Given the description of an element on the screen output the (x, y) to click on. 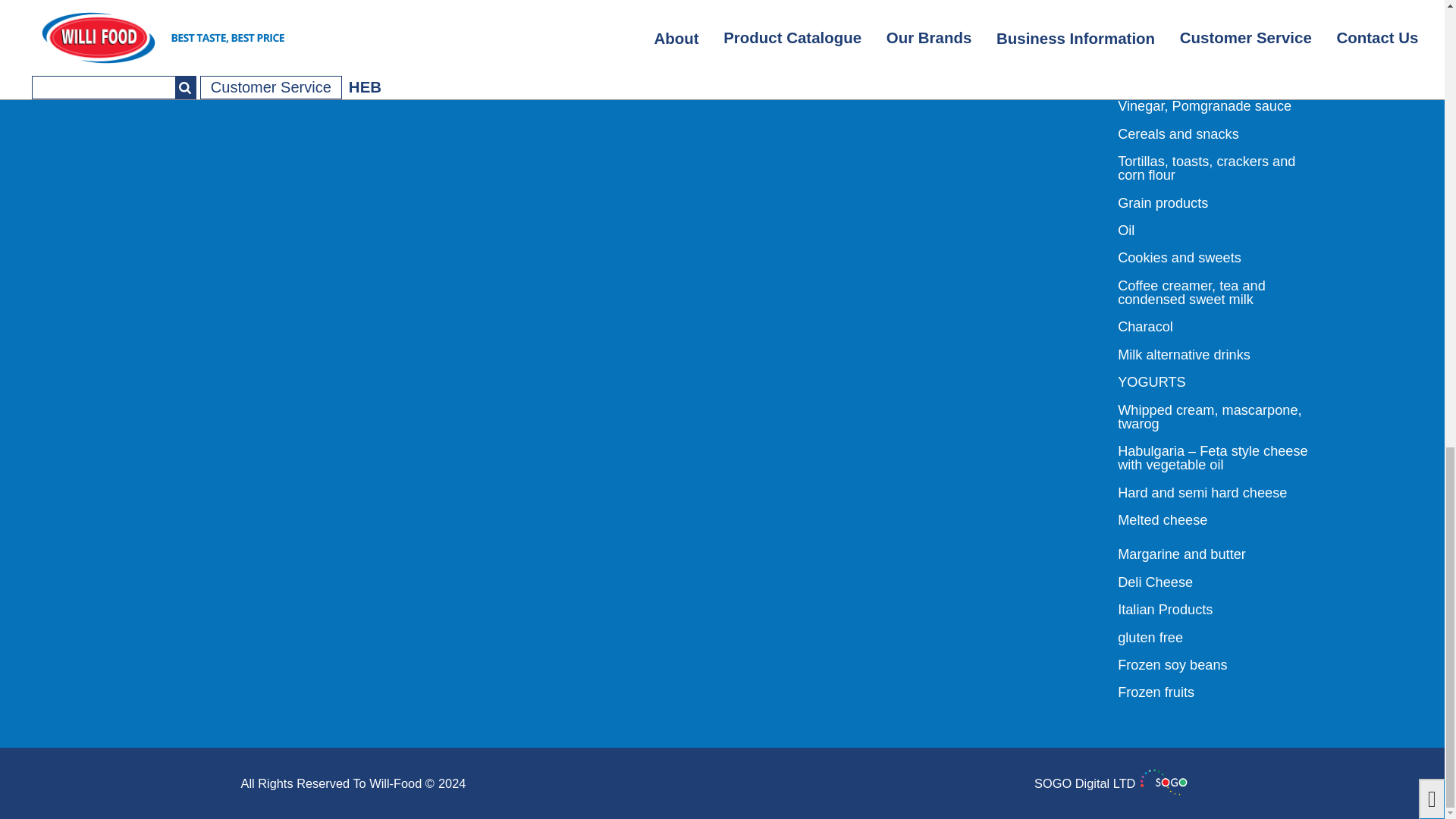
Asian products (1163, 9)
